Given the description of an element on the screen output the (x, y) to click on. 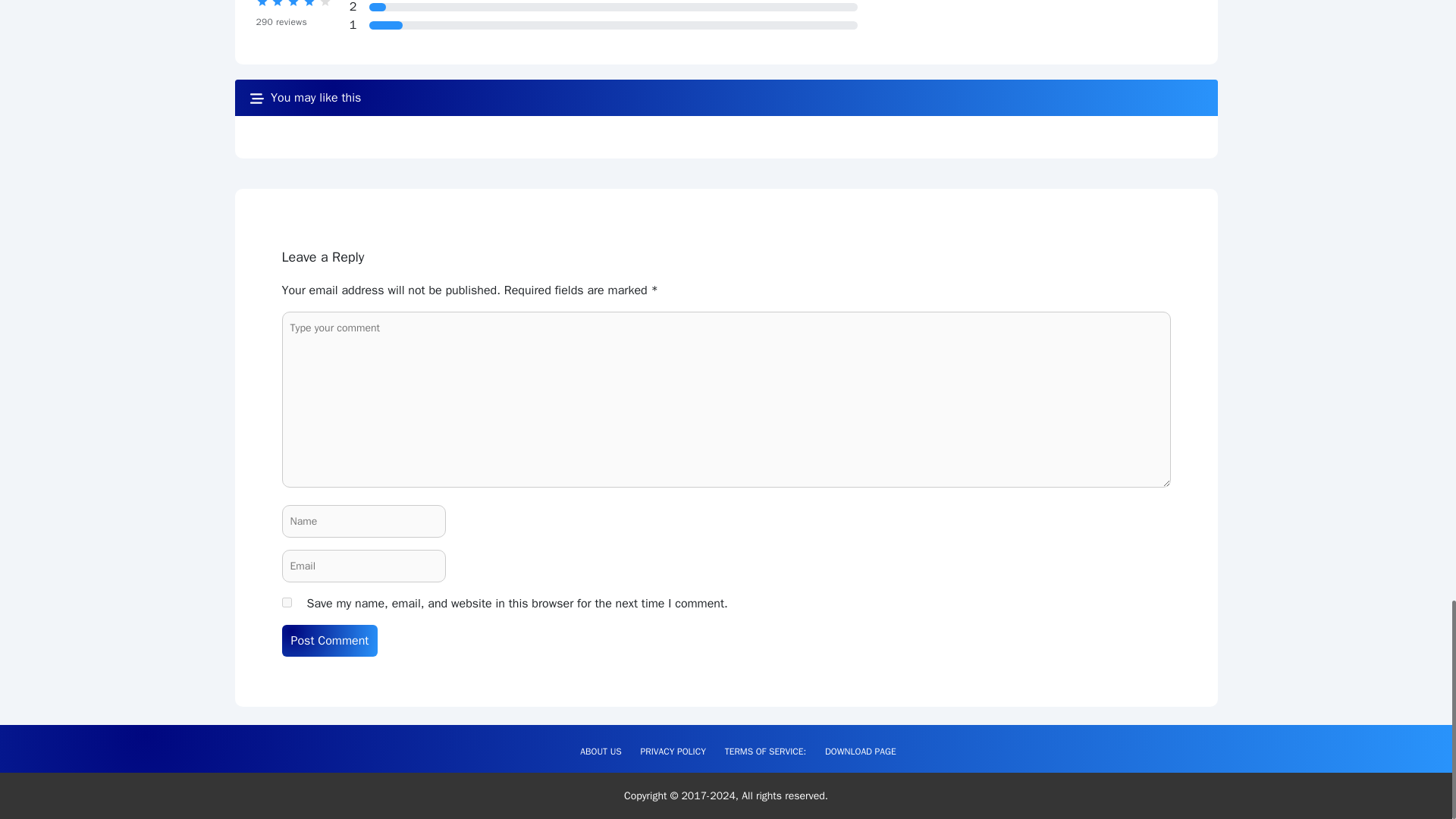
Post Comment (330, 640)
PRIVACY POLICY (673, 751)
Post Comment (330, 640)
10 (377, 7)
yes (287, 602)
TERMS OF SERVICE: (765, 751)
DOWNLOAD PAGE (860, 751)
ABOUT US (600, 751)
